Given the description of an element on the screen output the (x, y) to click on. 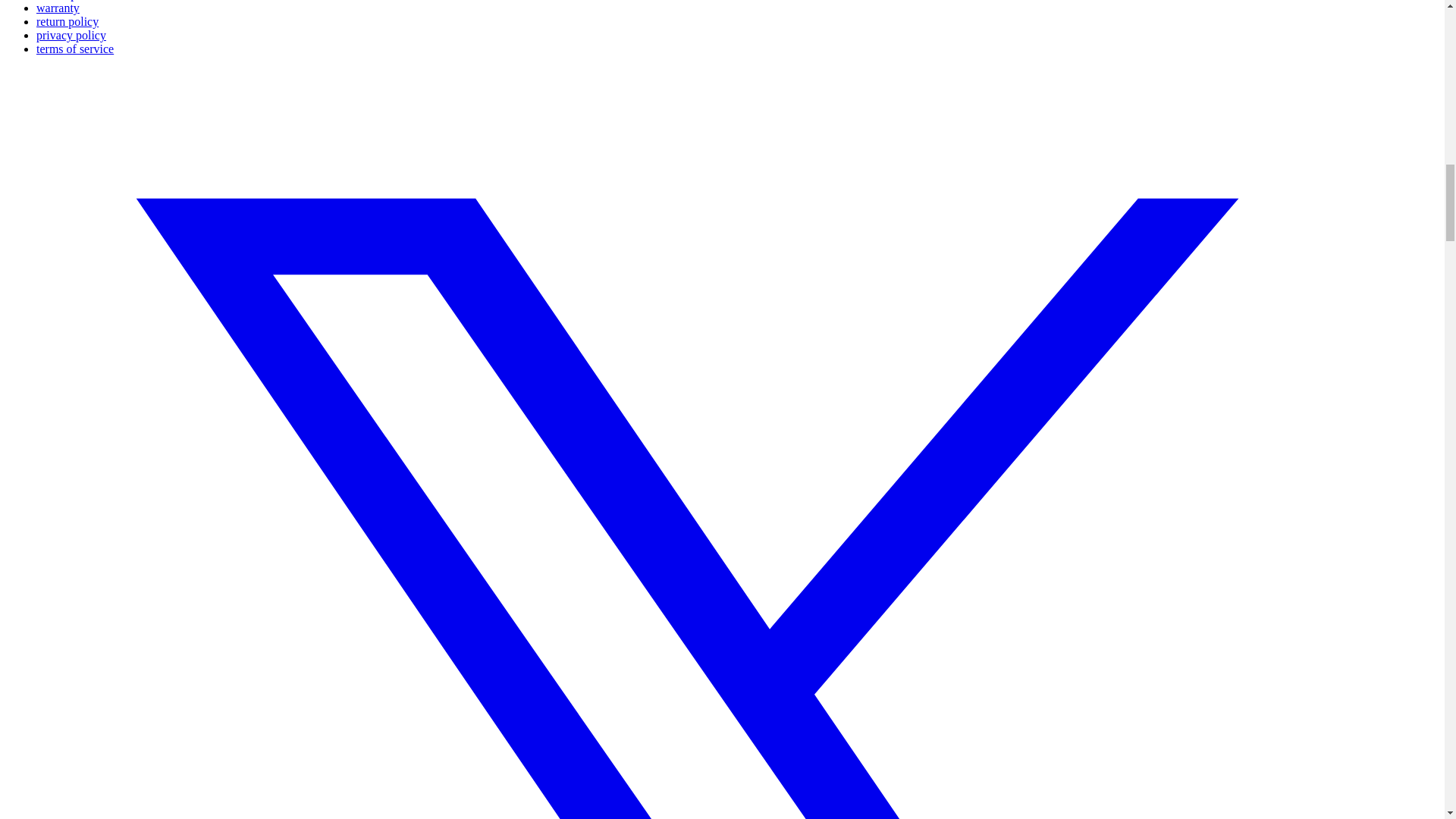
privacy policy (71, 34)
terms of service (74, 48)
return policy (67, 21)
warranty (58, 7)
subscription (66, 0)
